Given the description of an element on the screen output the (x, y) to click on. 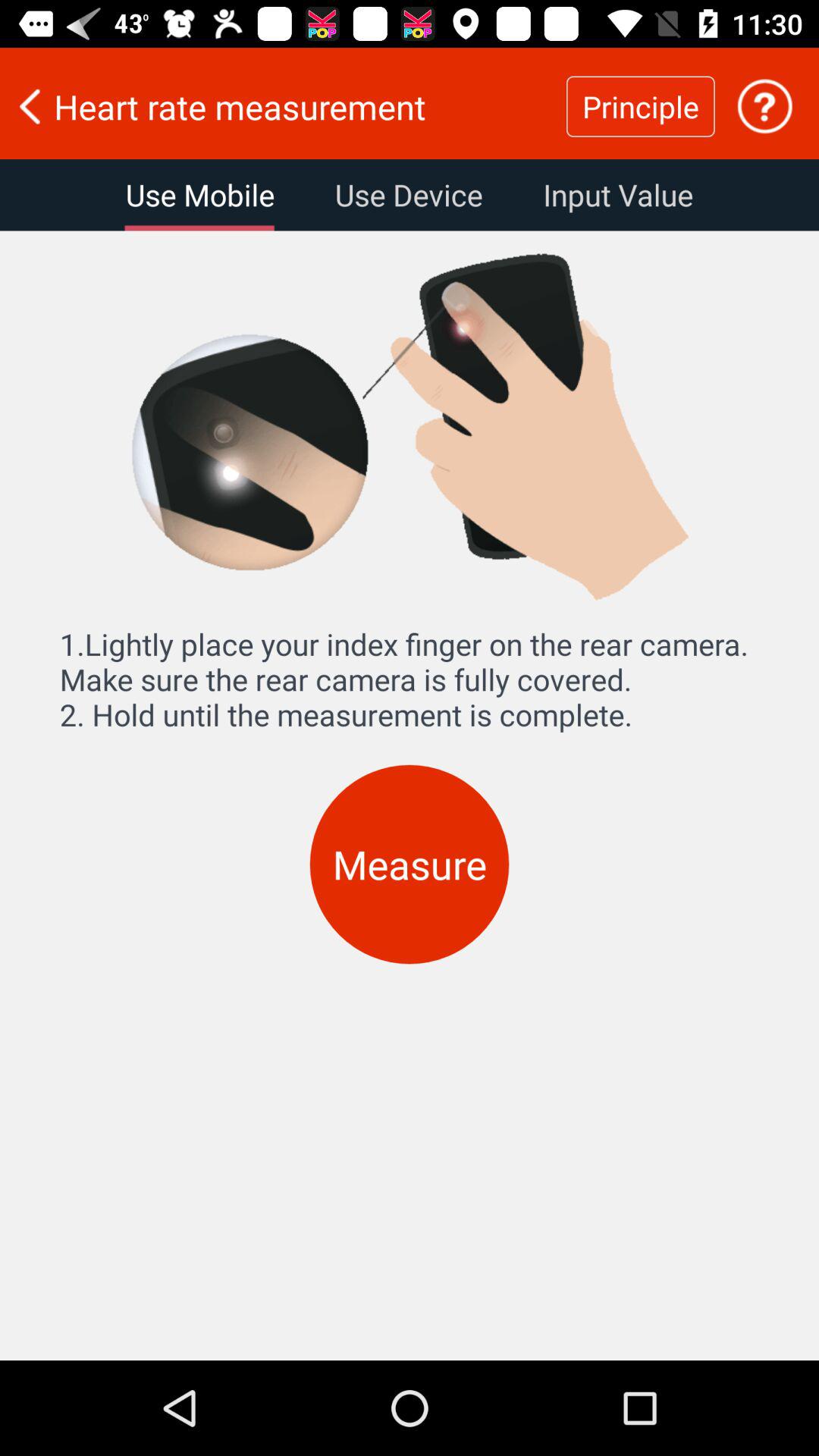
scroll until the use device icon (408, 194)
